Given the description of an element on the screen output the (x, y) to click on. 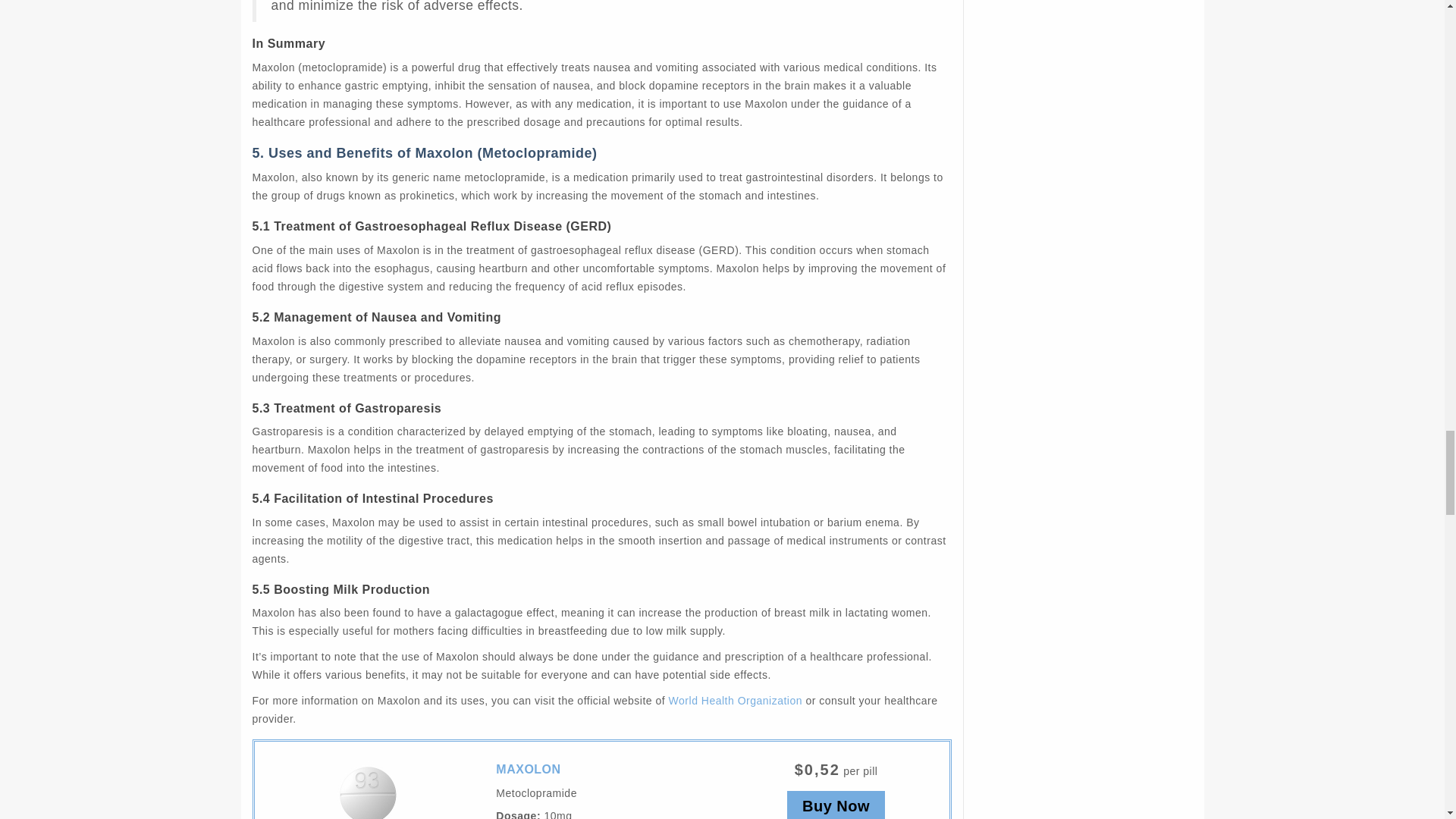
World Health Organization (735, 700)
Buy Now (836, 805)
